Given the description of an element on the screen output the (x, y) to click on. 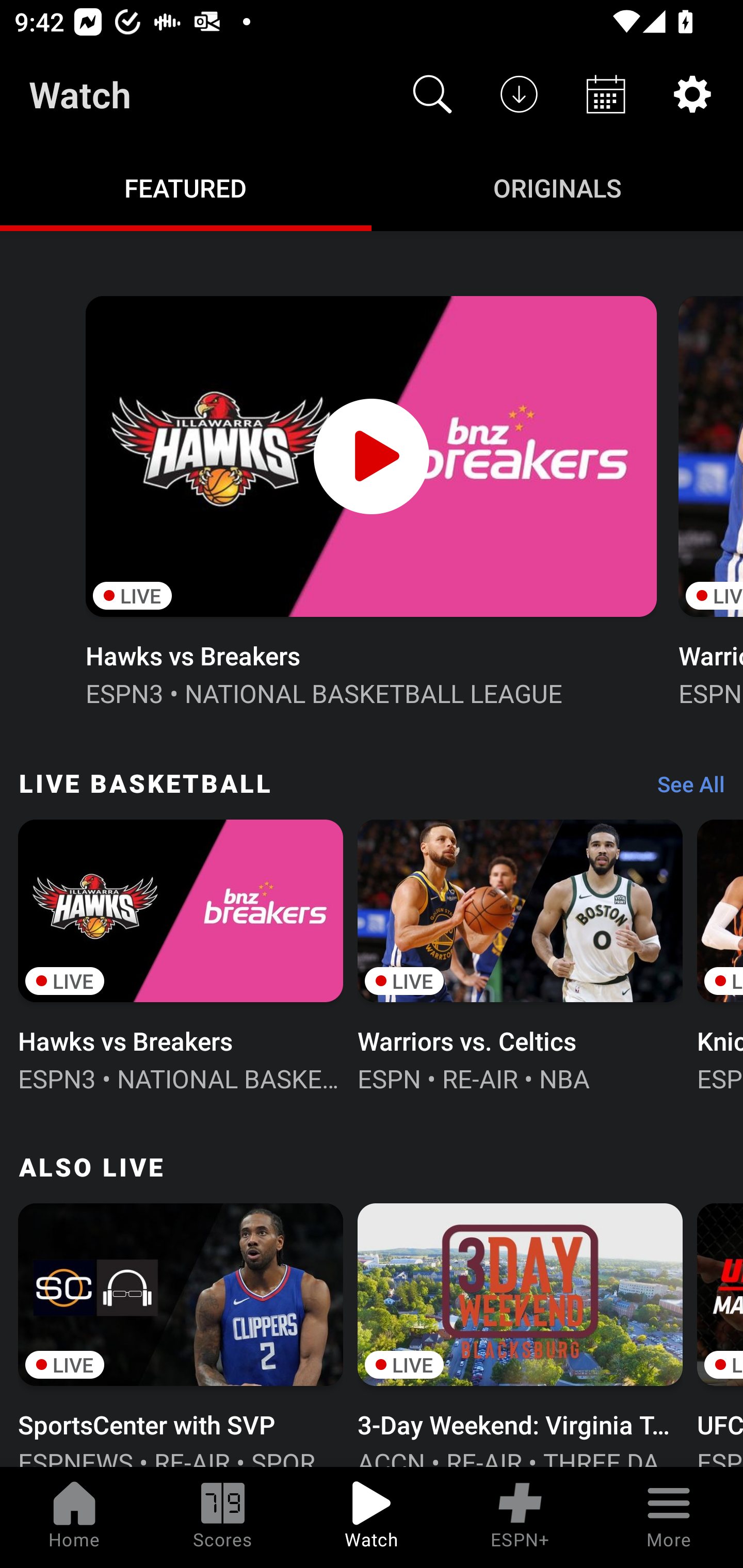
Search (432, 93)
Downloads (518, 93)
Schedule (605, 93)
Settings (692, 93)
Originals ORIGINALS (557, 187)
See All (683, 788)
LIVE Warriors vs. Celtics ESPN • RE-AIR • NBA (519, 954)
Home (74, 1517)
Scores (222, 1517)
ESPN+ (519, 1517)
More (668, 1517)
